Given the description of an element on the screen output the (x, y) to click on. 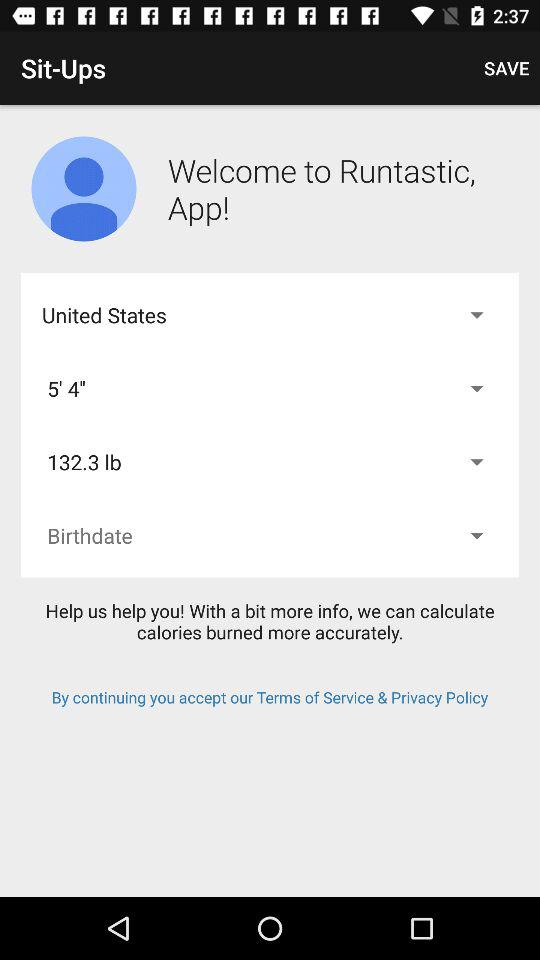
enter your birthdate (269, 535)
